Given the description of an element on the screen output the (x, y) to click on. 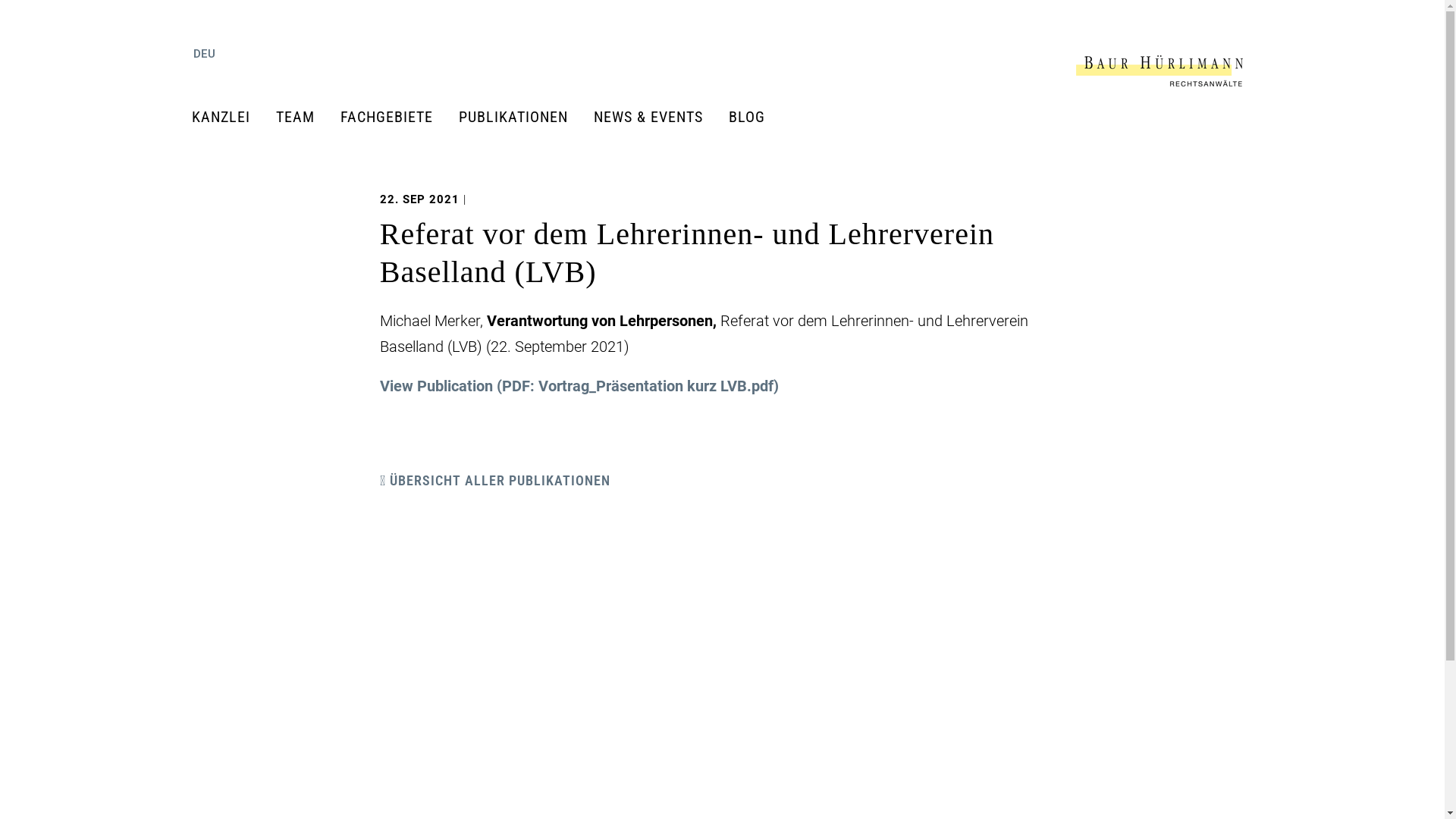
TEAM Element type: text (301, 116)
DEU Element type: text (207, 53)
KANZLEI Element type: text (226, 116)
BLOG Element type: text (752, 116)
PUBLIKATIONEN Element type: text (519, 116)
NEWS & EVENTS Element type: text (654, 116)
FACHGEBIETE Element type: text (392, 116)
